Given the description of an element on the screen output the (x, y) to click on. 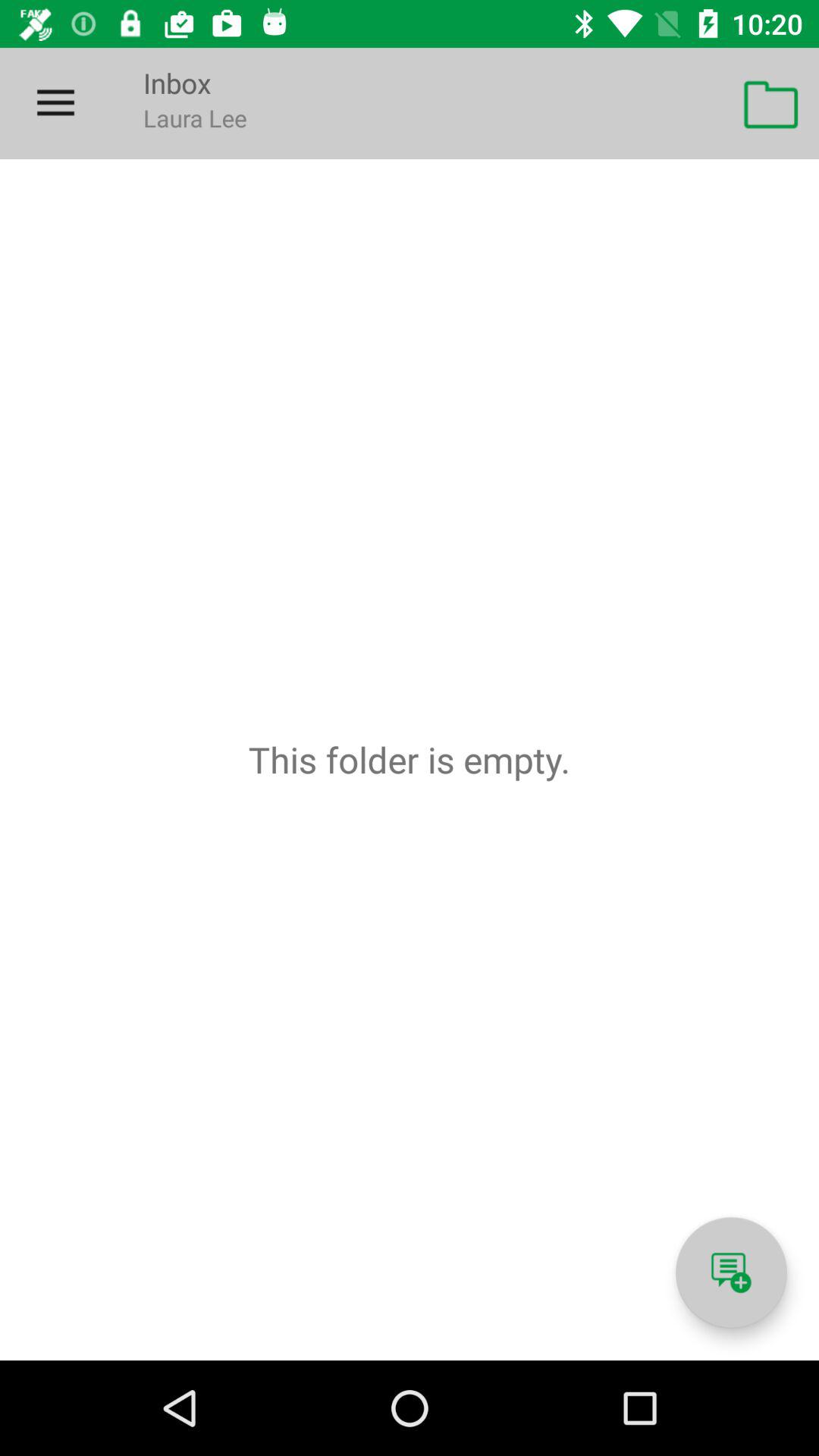
press item to the right of laura lee item (771, 103)
